Given the description of an element on the screen output the (x, y) to click on. 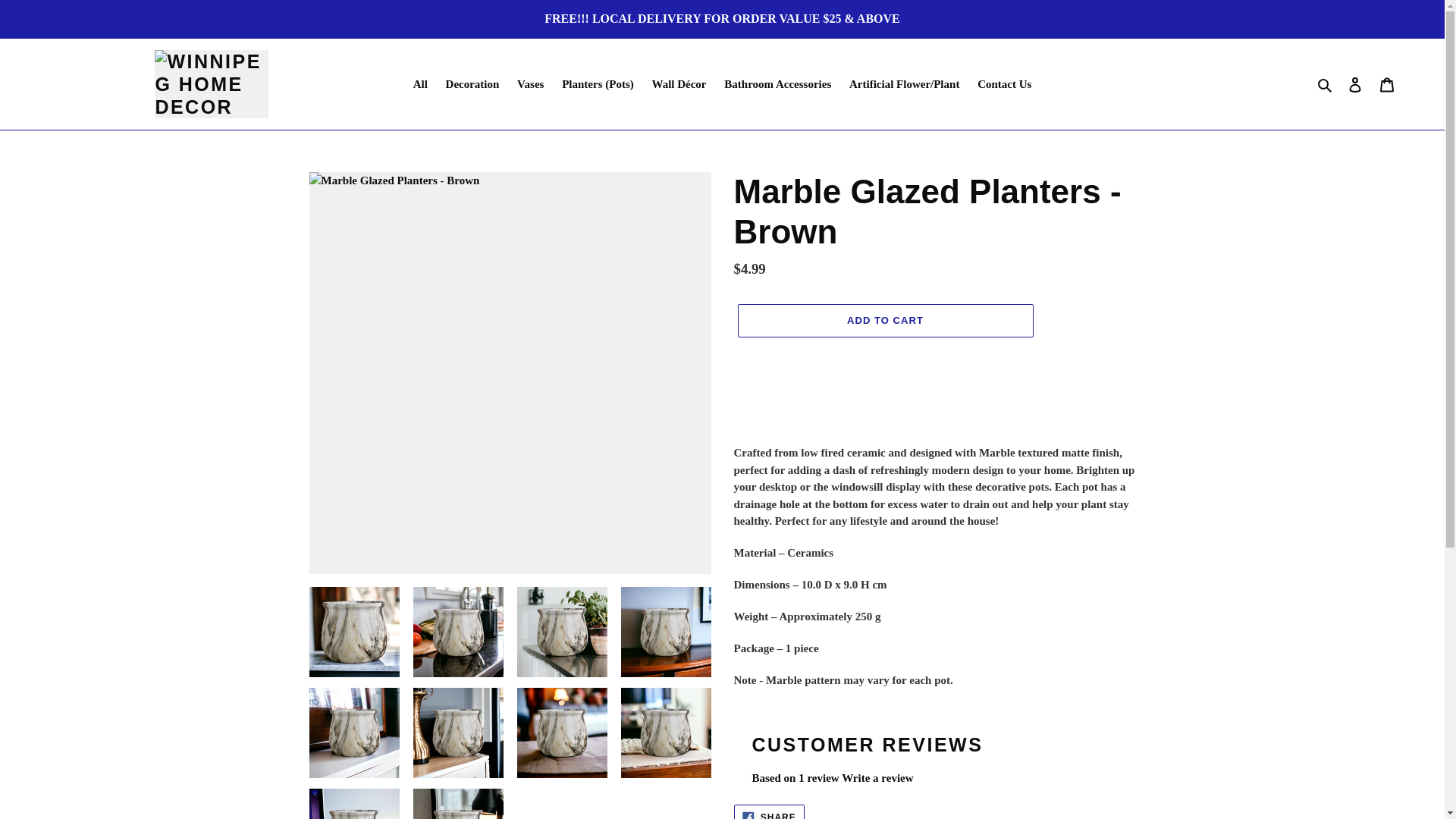
Vases (530, 84)
Contact Us (1004, 84)
Decoration (472, 84)
Log in (1355, 83)
Bathroom Accessories (777, 84)
Search (1326, 84)
Cart (1387, 83)
All (420, 84)
